Given the description of an element on the screen output the (x, y) to click on. 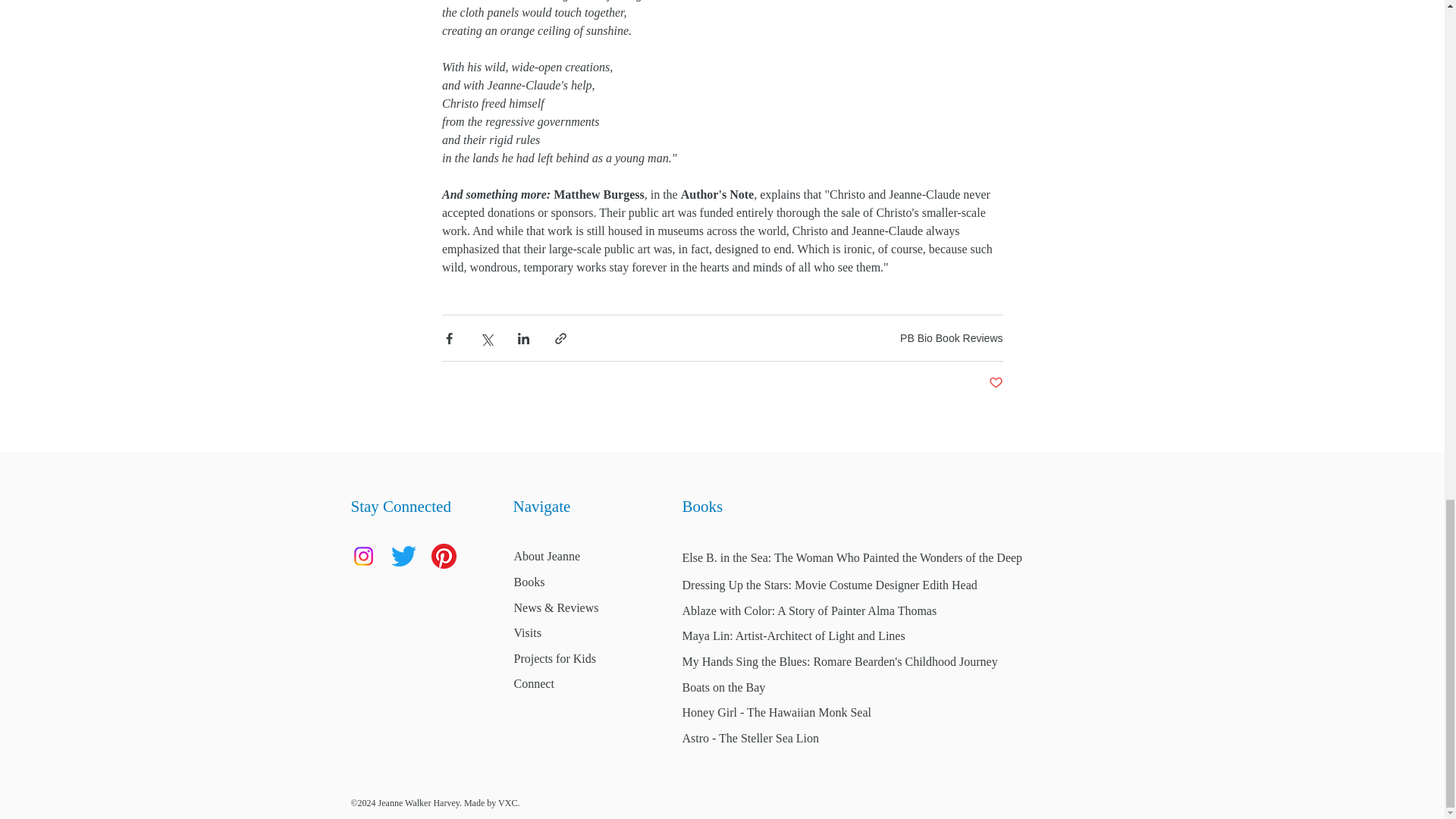
Projects for Kids (554, 658)
Connect (533, 683)
Books (528, 581)
Post not marked as liked (995, 383)
Maya Lin: Artist-Architect of Light and Lines (793, 635)
About Jeanne (546, 555)
Dressing Up the Stars: Movie Costume Designer Edith Head (829, 584)
PB Bio Book Reviews (951, 337)
Ablaze with Color: A Story of Painter Alma Thomas (809, 610)
